Given the description of an element on the screen output the (x, y) to click on. 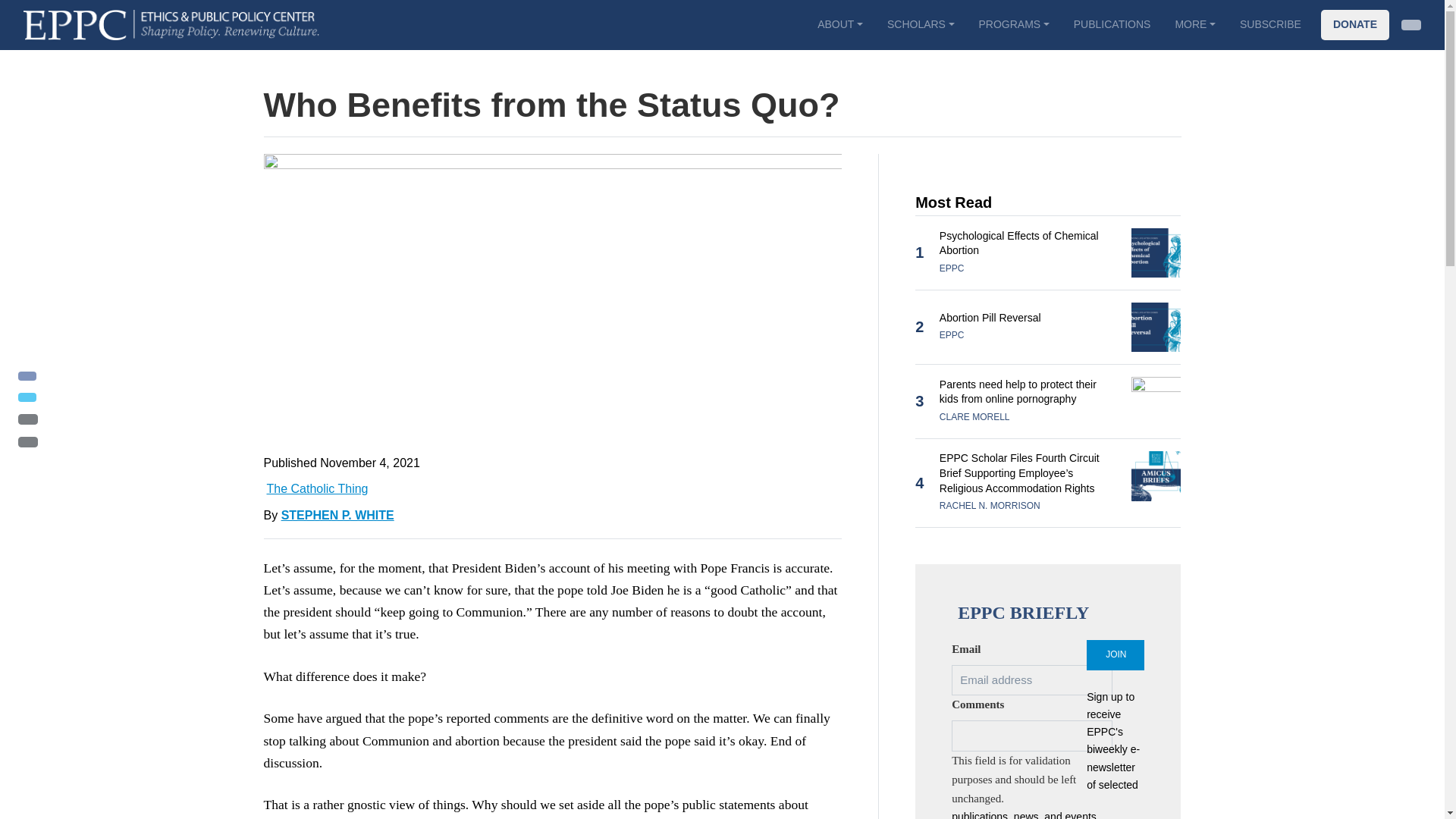
JOIN (1115, 654)
SCHOLARS (920, 24)
ABOUT (840, 24)
